Given the description of an element on the screen output the (x, y) to click on. 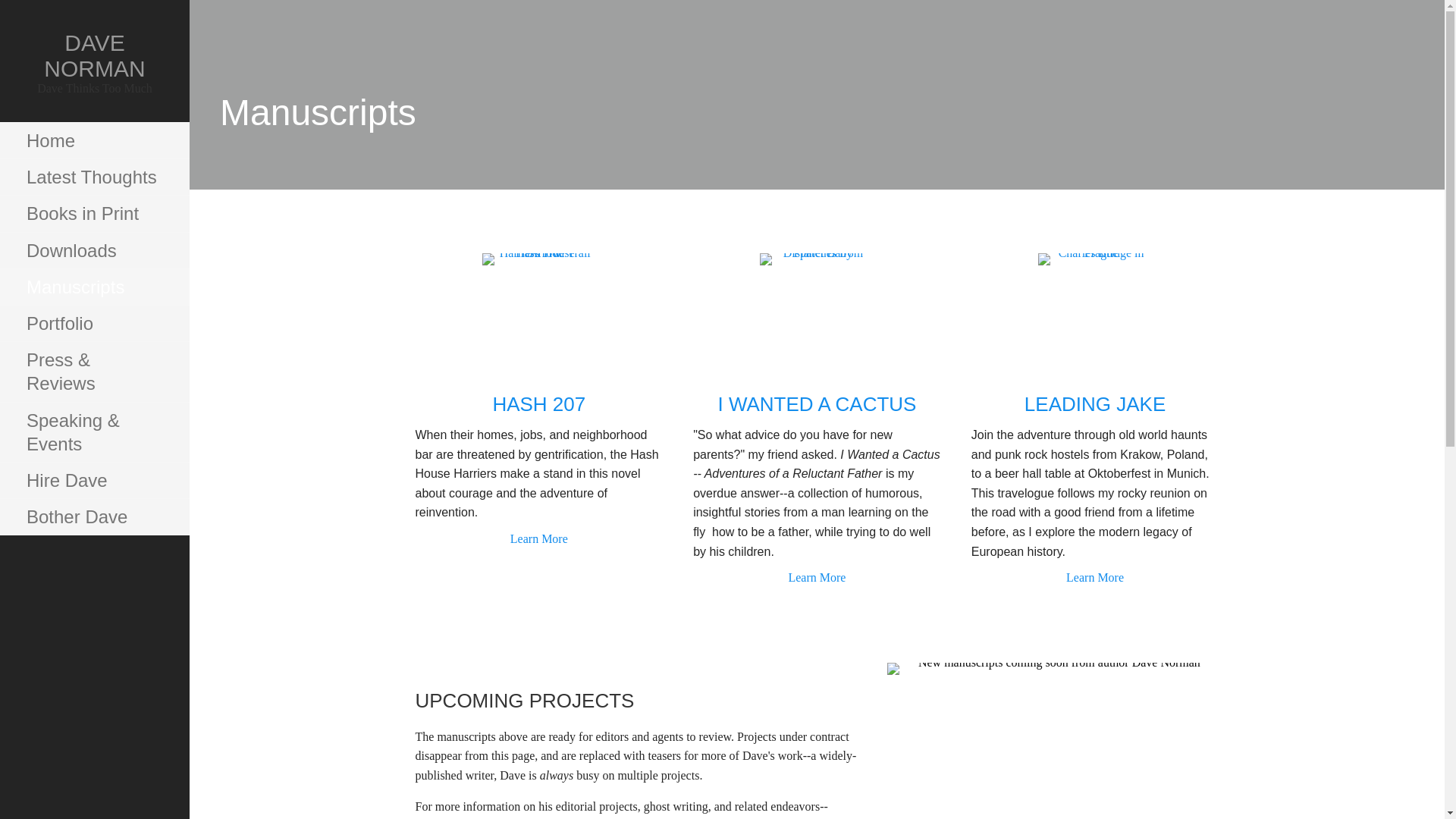
DAVE NORMAN (93, 55)
LEADING JAKE (1095, 404)
Hire Dave (94, 480)
Manuscripts (94, 287)
Home (94, 140)
true trail (538, 309)
Dispatches from Planet Baby (816, 309)
Downloads (94, 250)
I WANTED A CACTUS (816, 404)
pages (1052, 740)
